Given the description of an element on the screen output the (x, y) to click on. 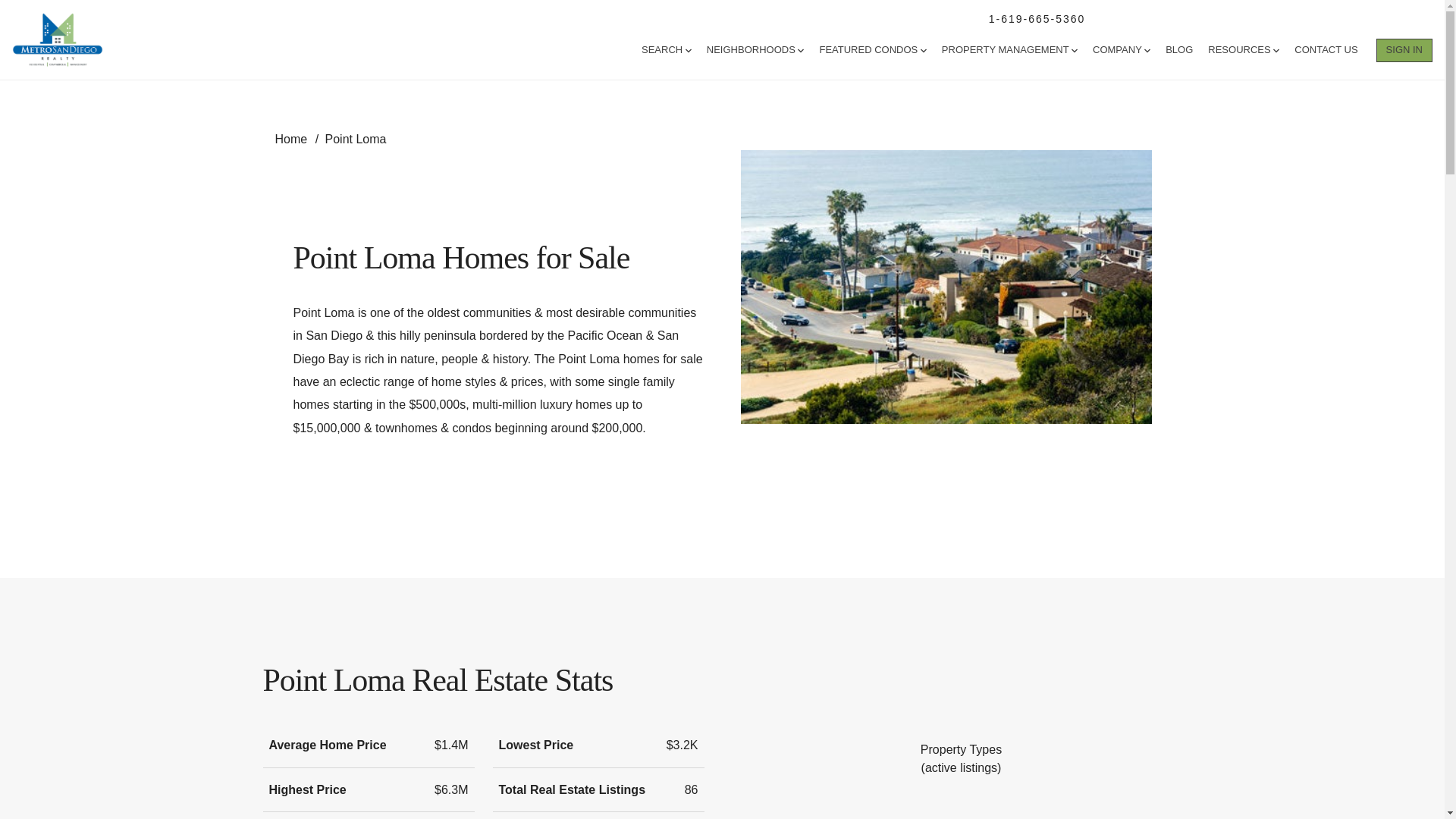
DROPDOWN ARROW (1147, 50)
1-619-665-5360 (1037, 18)
DROPDOWN ARROW (688, 50)
DROPDOWN ARROW (1275, 50)
DROPDOWN ARROW (1074, 50)
SEARCH DROPDOWN ARROW (666, 50)
DROPDOWN ARROW (923, 50)
NEIGHBORHOODS DROPDOWN ARROW (755, 50)
DROPDOWN ARROW (800, 50)
